Given the description of an element on the screen output the (x, y) to click on. 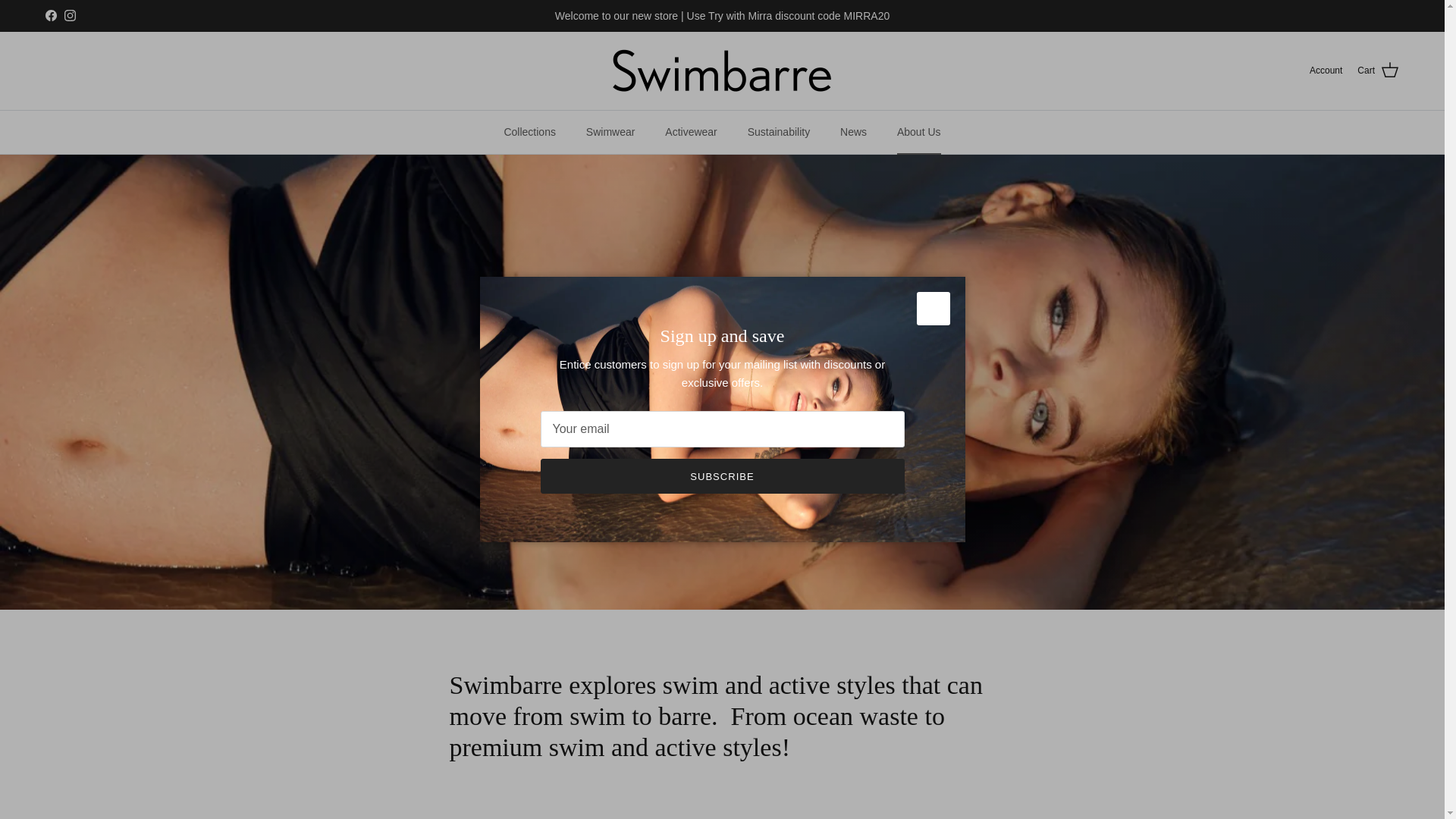
About Us (919, 131)
Swimwear (610, 131)
Instagram (69, 15)
Collections (529, 131)
Swimbarre on Instagram (69, 15)
Swimbarre (722, 70)
News (853, 131)
Facebook (50, 15)
Swimbarre on Facebook (50, 15)
Sustainability (778, 131)
Cart (1377, 70)
Account (1325, 70)
Activewear (690, 131)
